Given the description of an element on the screen output the (x, y) to click on. 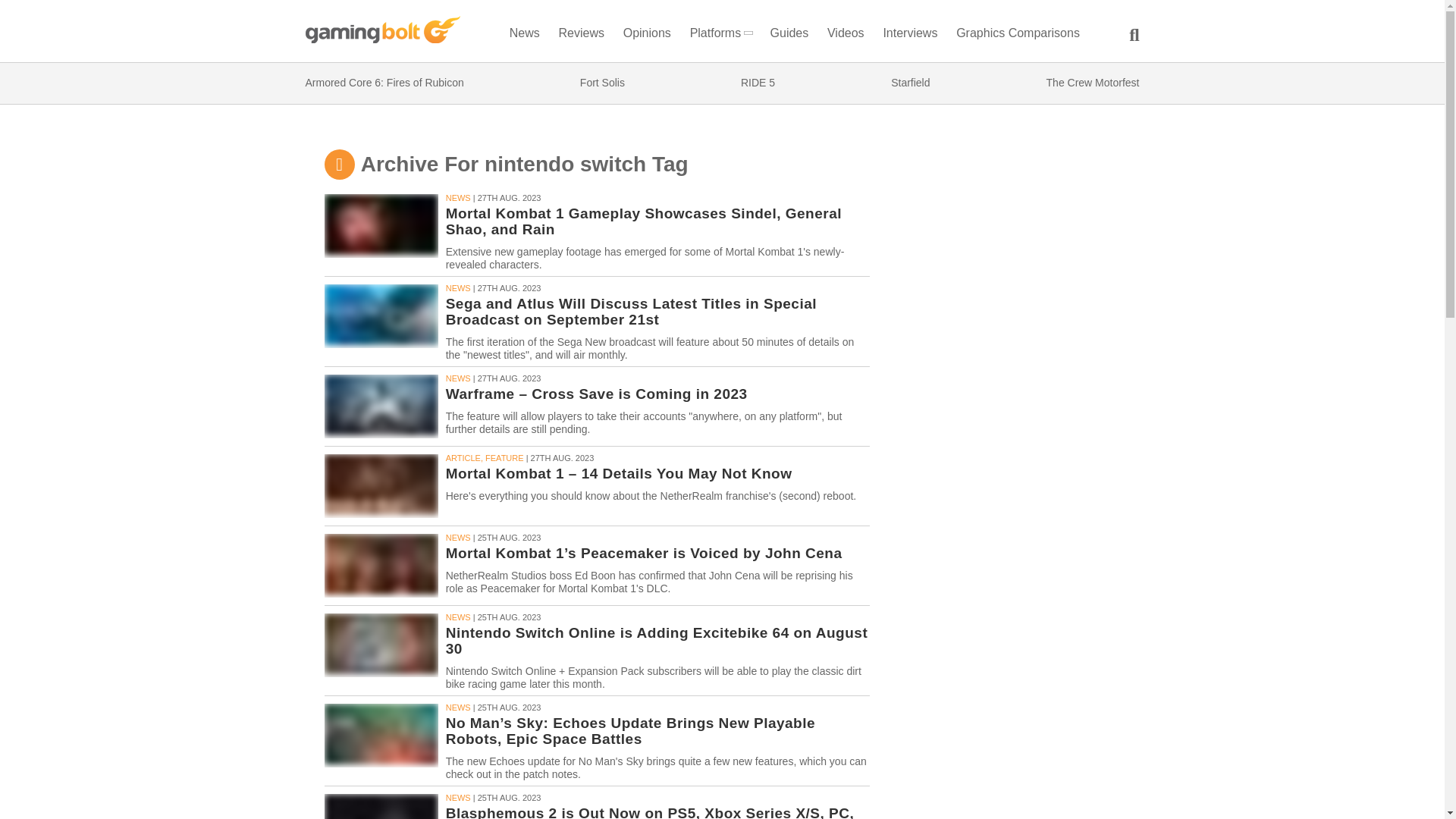
Guides (789, 36)
The Crew Motorfest (1093, 82)
Armored Core 6: Fires of Rubicon (383, 82)
News (524, 36)
Fort Solis (601, 82)
Starfield (910, 82)
RIDE 5 (757, 82)
Graphics Comparisons (1017, 36)
